Given the description of an element on the screen output the (x, y) to click on. 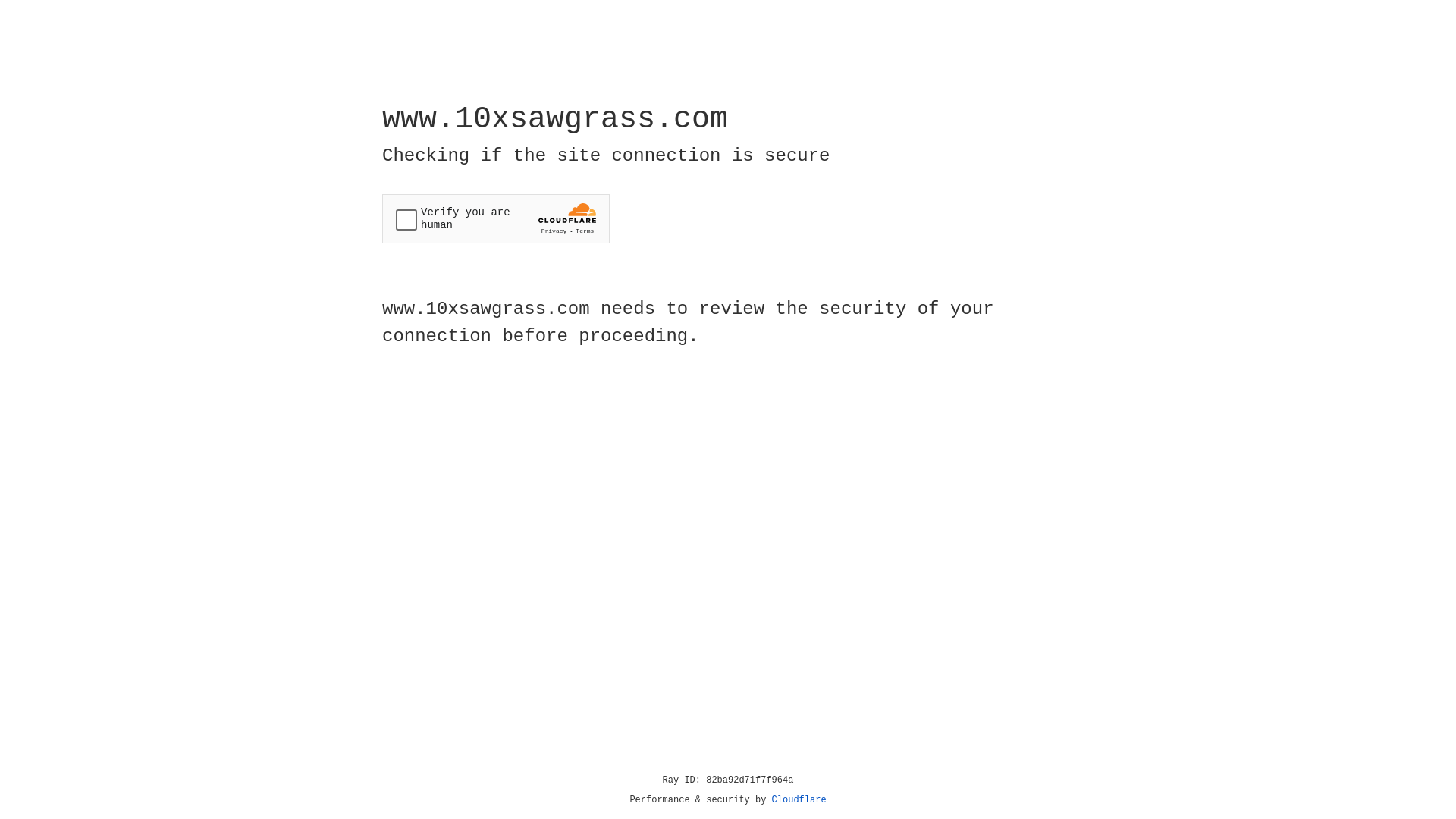
Widget containing a Cloudflare security challenge Element type: hover (495, 218)
Cloudflare Element type: text (798, 799)
